Given the description of an element on the screen output the (x, y) to click on. 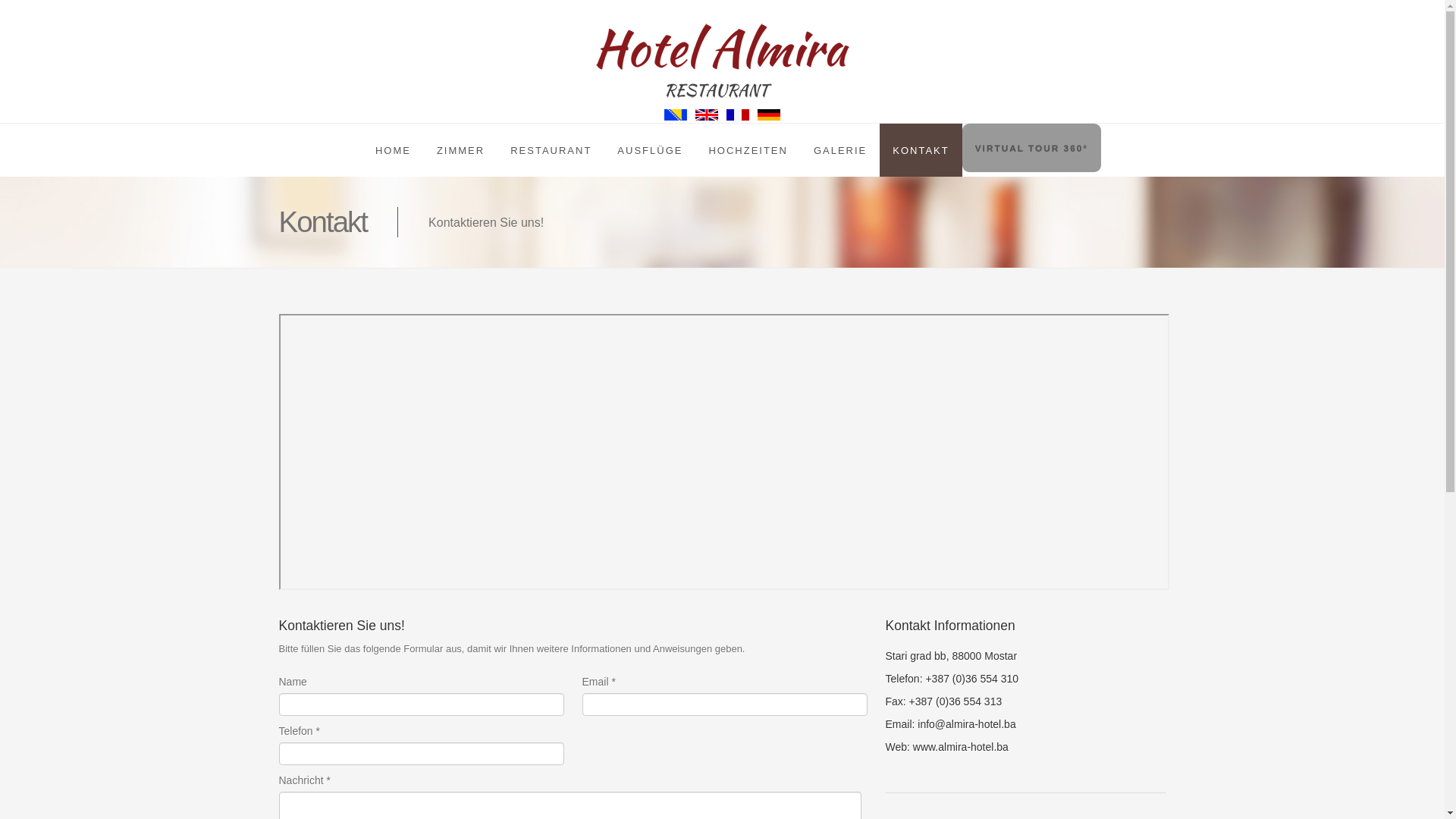
HOME Element type: text (392, 149)
ZIMMER Element type: text (460, 149)
RESTAURANT Element type: text (550, 149)
KONTAKT Element type: text (920, 149)
GALERIE Element type: text (839, 149)
HOCHZEITEN Element type: text (747, 149)
